Given the description of an element on the screen output the (x, y) to click on. 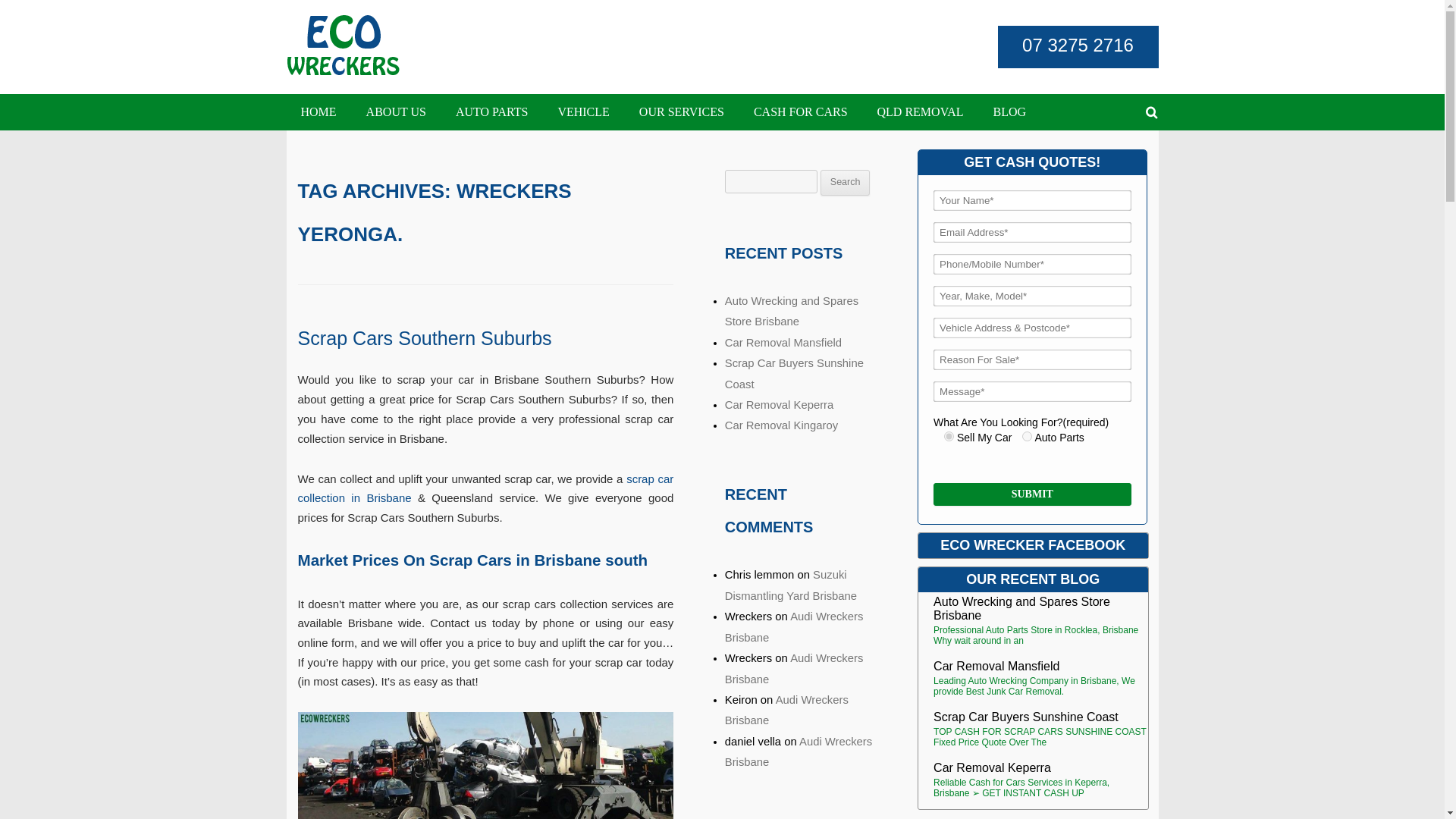
Sell My Car (948, 436)
HOME (318, 112)
Auto Parts (1027, 436)
07 3275 2716 (1078, 45)
AUTO PARTS (492, 112)
SUBMIT (1032, 494)
Search (845, 182)
QLD REMOVAL (920, 112)
OUR SERVICES (681, 112)
BLOG (1009, 112)
CASH FOR CARS (800, 112)
ABOUT US (396, 112)
VEHICLE (583, 112)
